Given the description of an element on the screen output the (x, y) to click on. 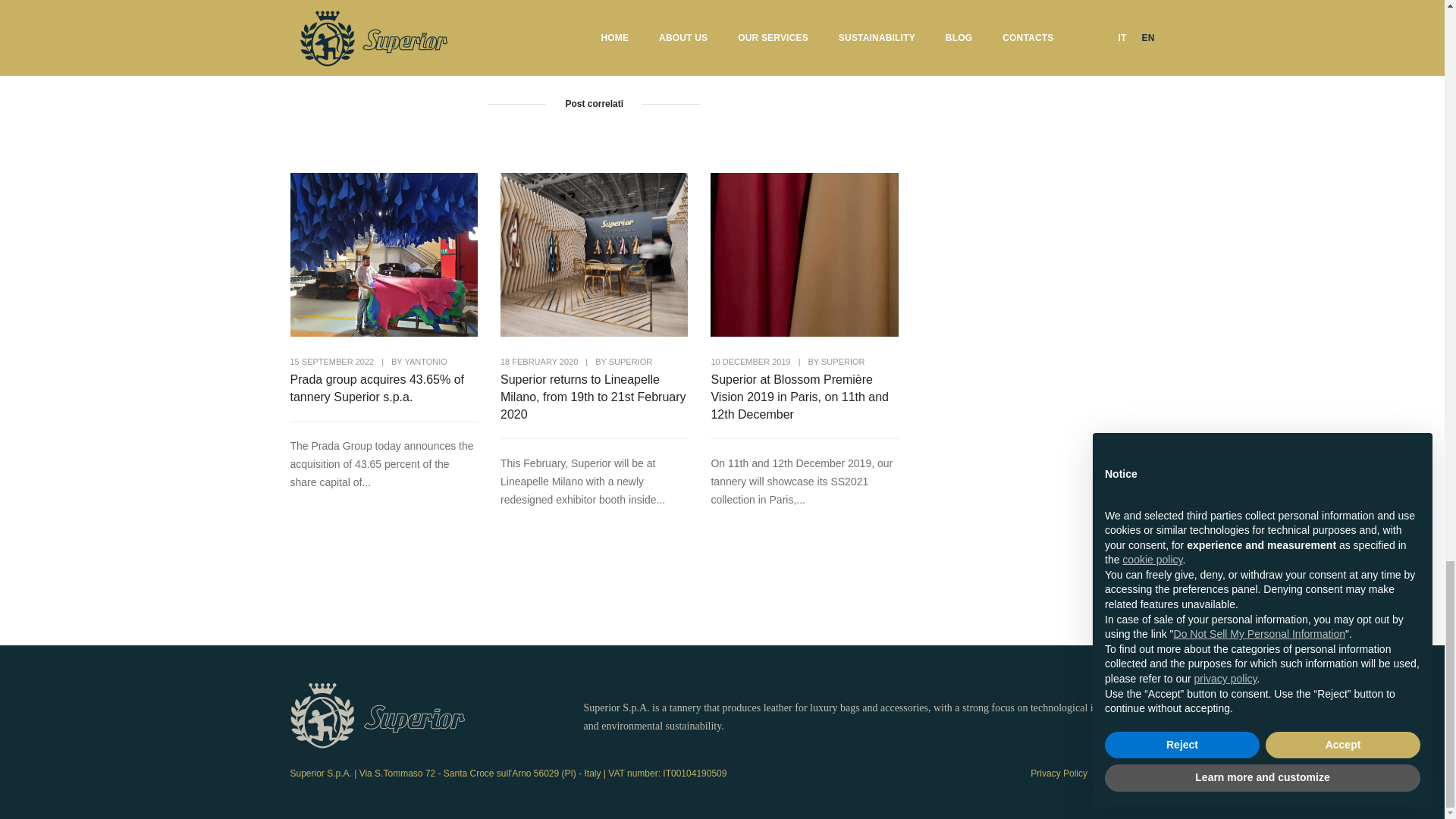
Cookie Policy  (1126, 773)
SUPERIOR (842, 361)
16 (871, 6)
Like (871, 6)
SUPERIOR (630, 361)
YANTONIO (425, 361)
